Given the description of an element on the screen output the (x, y) to click on. 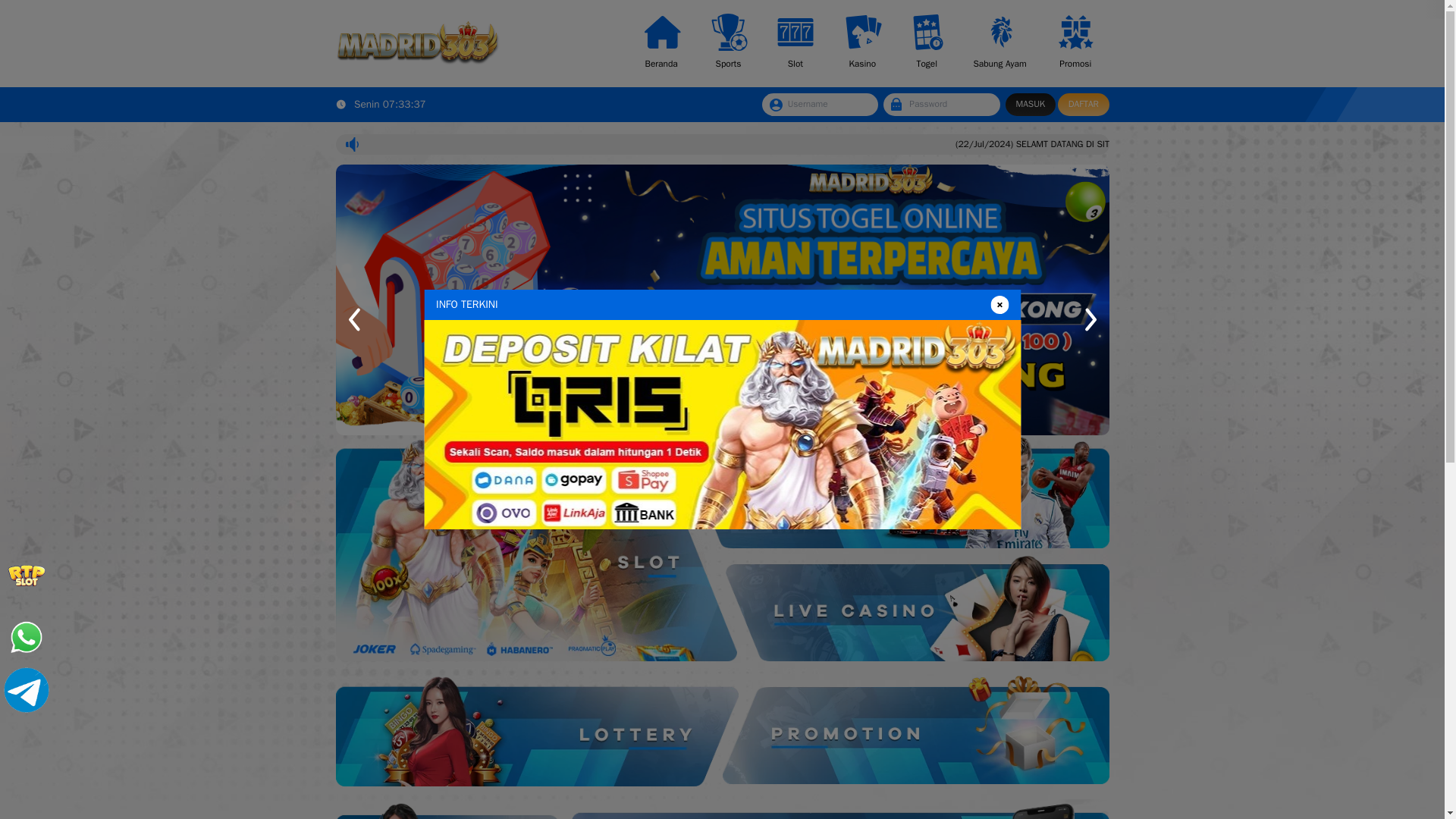
MASUK (1211, 123)
Logo (491, 50)
DAFTAR (1274, 123)
Sabung Ayam (1175, 51)
